Given the description of an element on the screen output the (x, y) to click on. 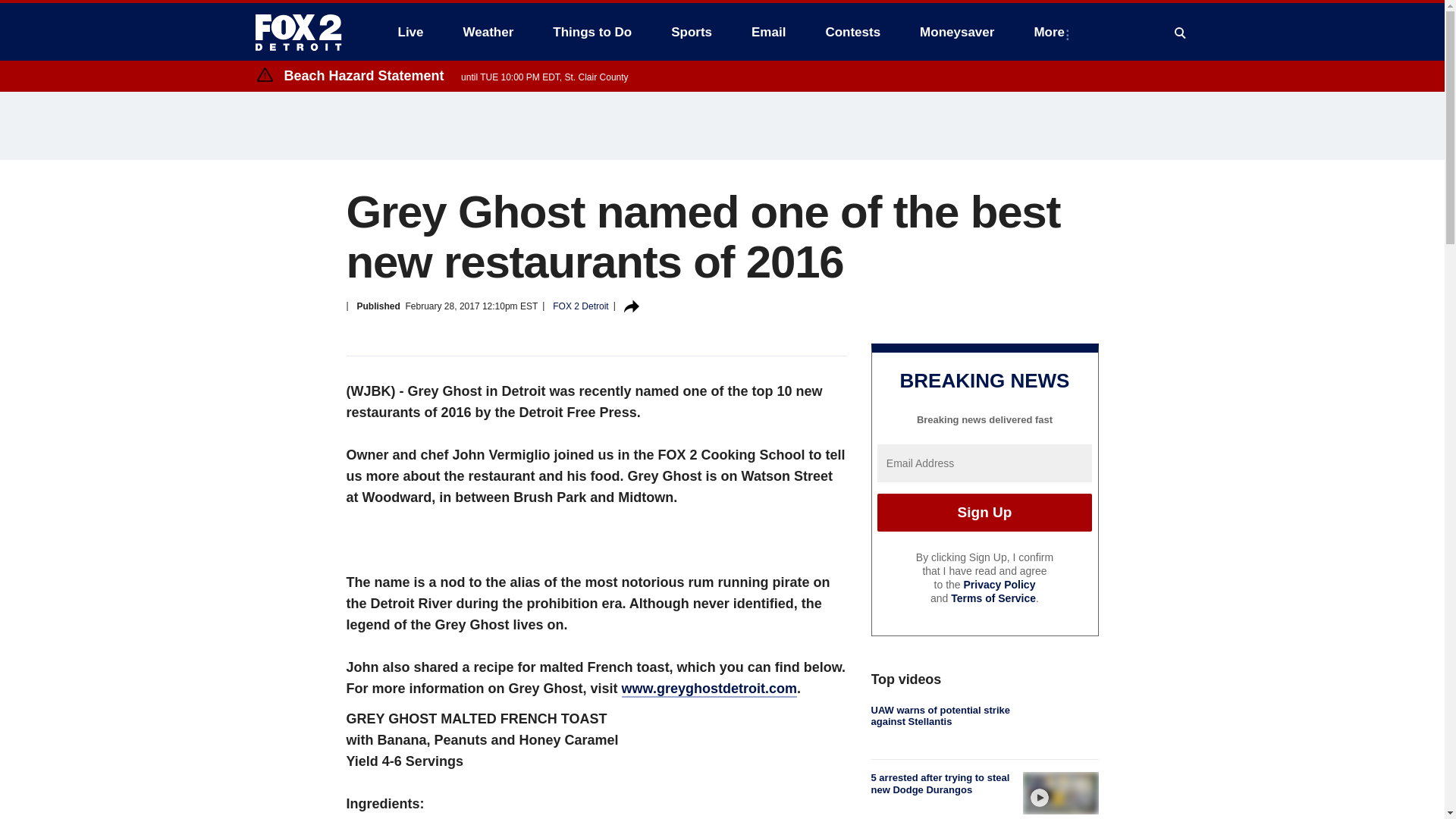
Contests (852, 32)
Live (410, 32)
Moneysaver (956, 32)
Email (768, 32)
Things to Do (591, 32)
Weather (488, 32)
More (1052, 32)
Sports (691, 32)
Sign Up (984, 512)
